Given the description of an element on the screen output the (x, y) to click on. 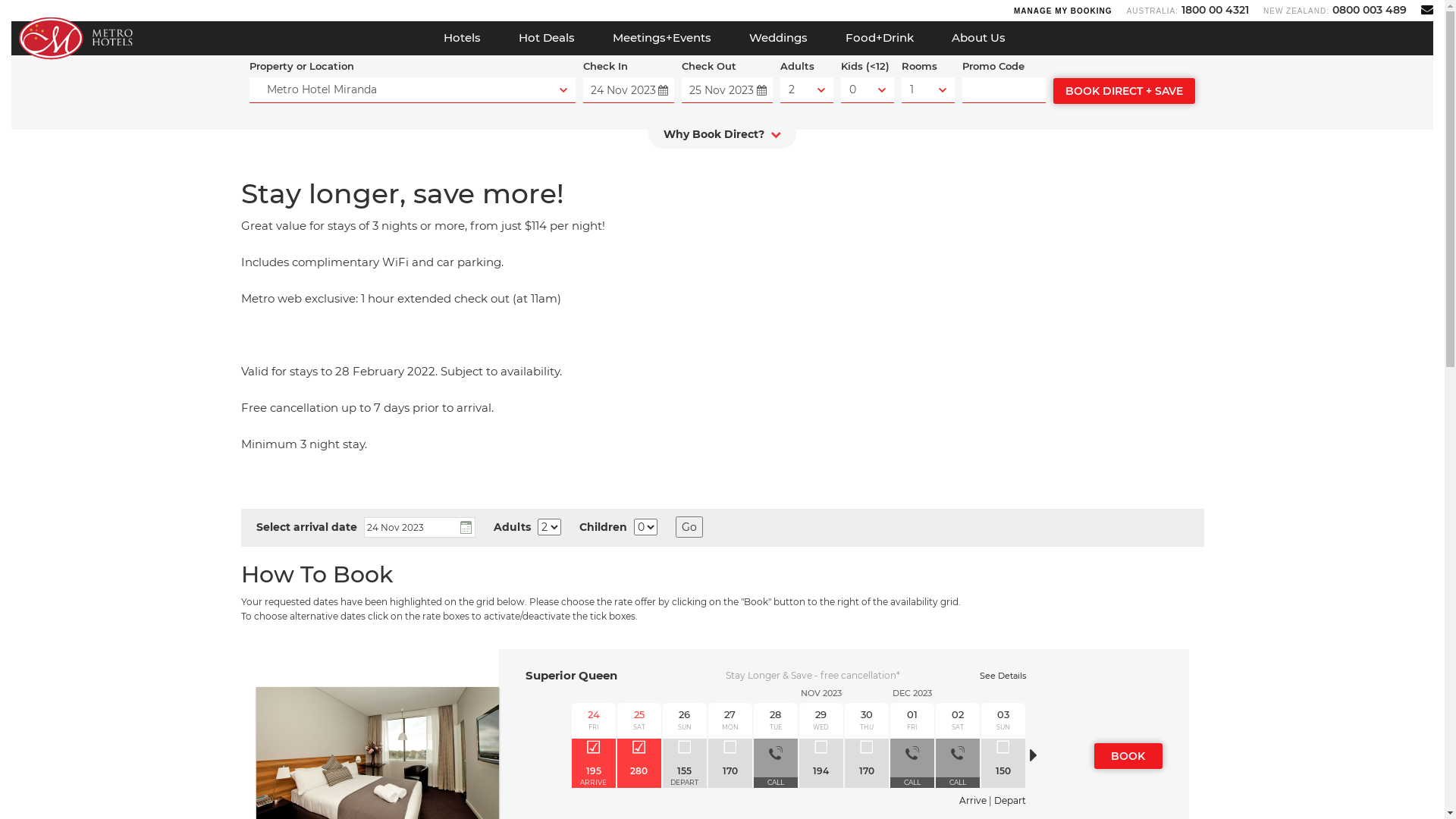
Go Element type: text (688, 526)
See Details Element type: text (1002, 675)
Meetings+Events Element type: text (661, 38)
MANAGE MY BOOKING Element type: text (1062, 10)
Depart Element type: text (1009, 800)
About Us Element type: text (978, 38)
Hotels Element type: text (461, 38)
Arrive Element type: text (971, 800)
Contact Us Element type: hover (1427, 9)
Food+Drink Element type: text (879, 38)
Why Book Direct? Element type: text (722, 137)
BOOK DIRECT + SAVE Element type: text (1124, 90)
Hot Deals Element type: text (545, 38)
Weddings Element type: text (777, 38)
